Given the description of an element on the screen output the (x, y) to click on. 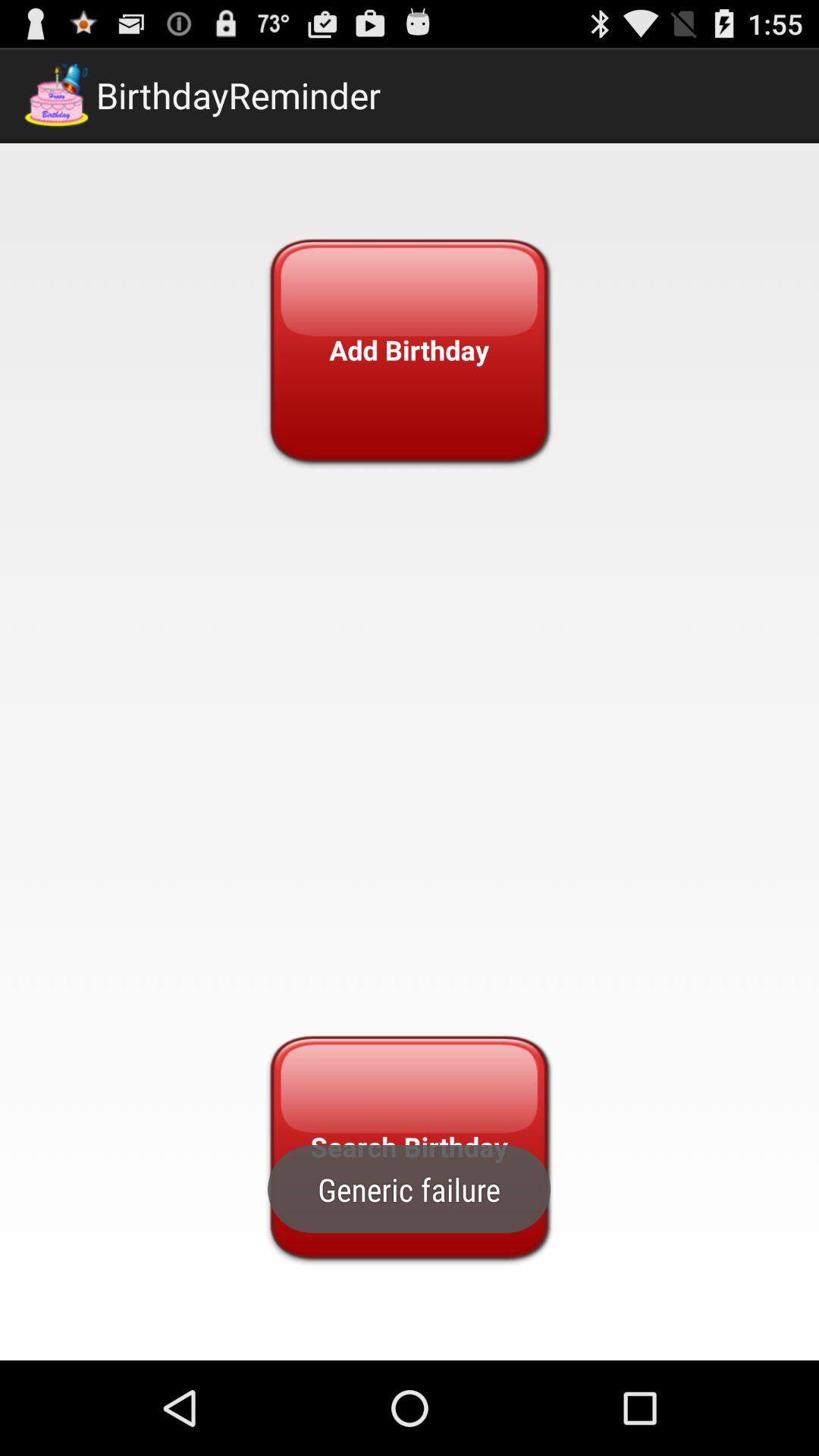
click icon at the bottom (408, 1146)
